Given the description of an element on the screen output the (x, y) to click on. 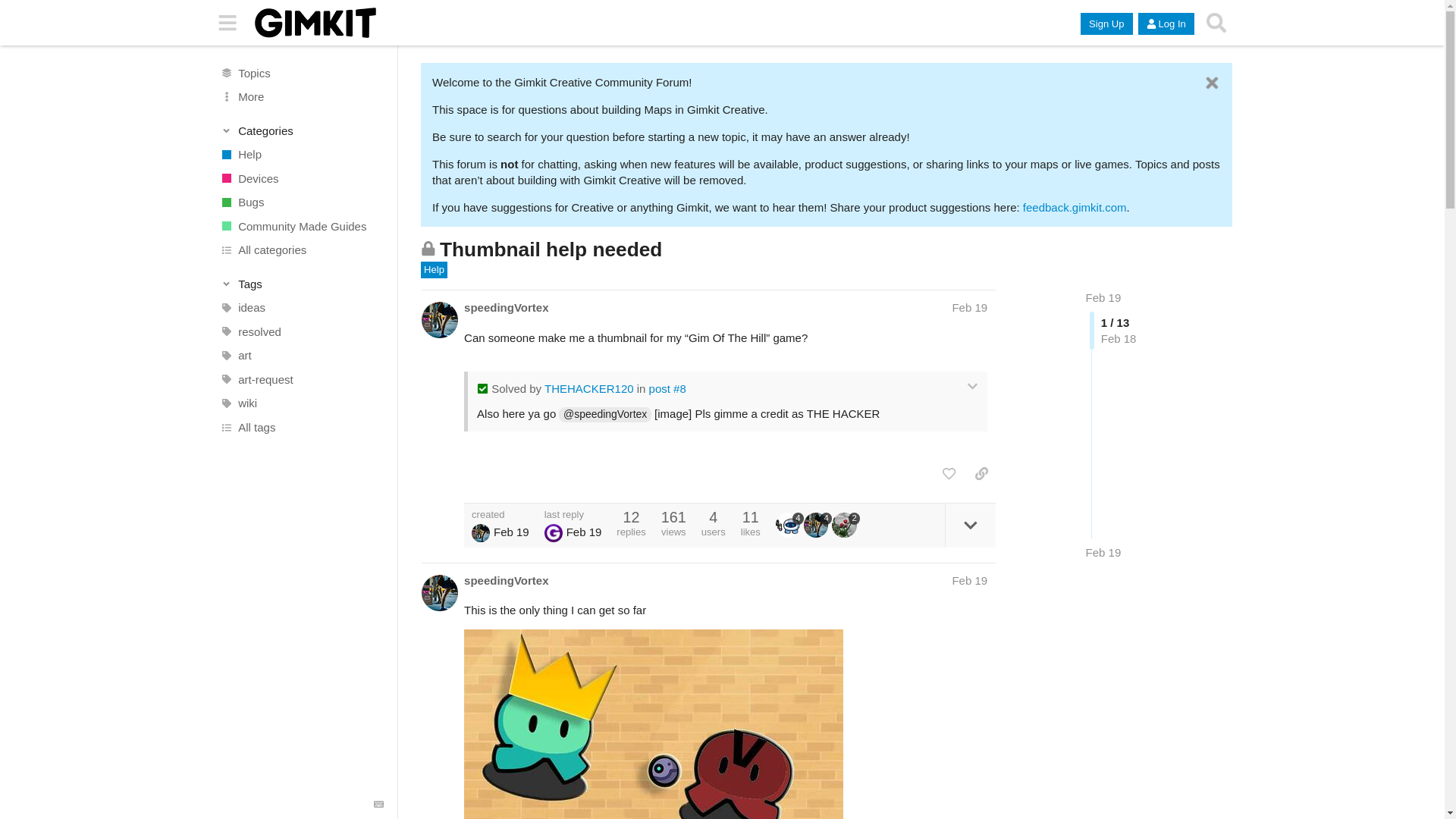
Log In (1165, 24)
Tags (301, 283)
art-request (301, 379)
Devices (301, 178)
Hide sidebar (227, 22)
Feb 19 (1103, 297)
More (301, 96)
Post date (969, 307)
Help (301, 154)
Feb 19 (1103, 552)
Dismiss this banner (1212, 82)
feedback.gimkit.com (1074, 206)
Toggle section (301, 130)
Toggle section (301, 283)
Feb 19 (969, 307)
